Given the description of an element on the screen output the (x, y) to click on. 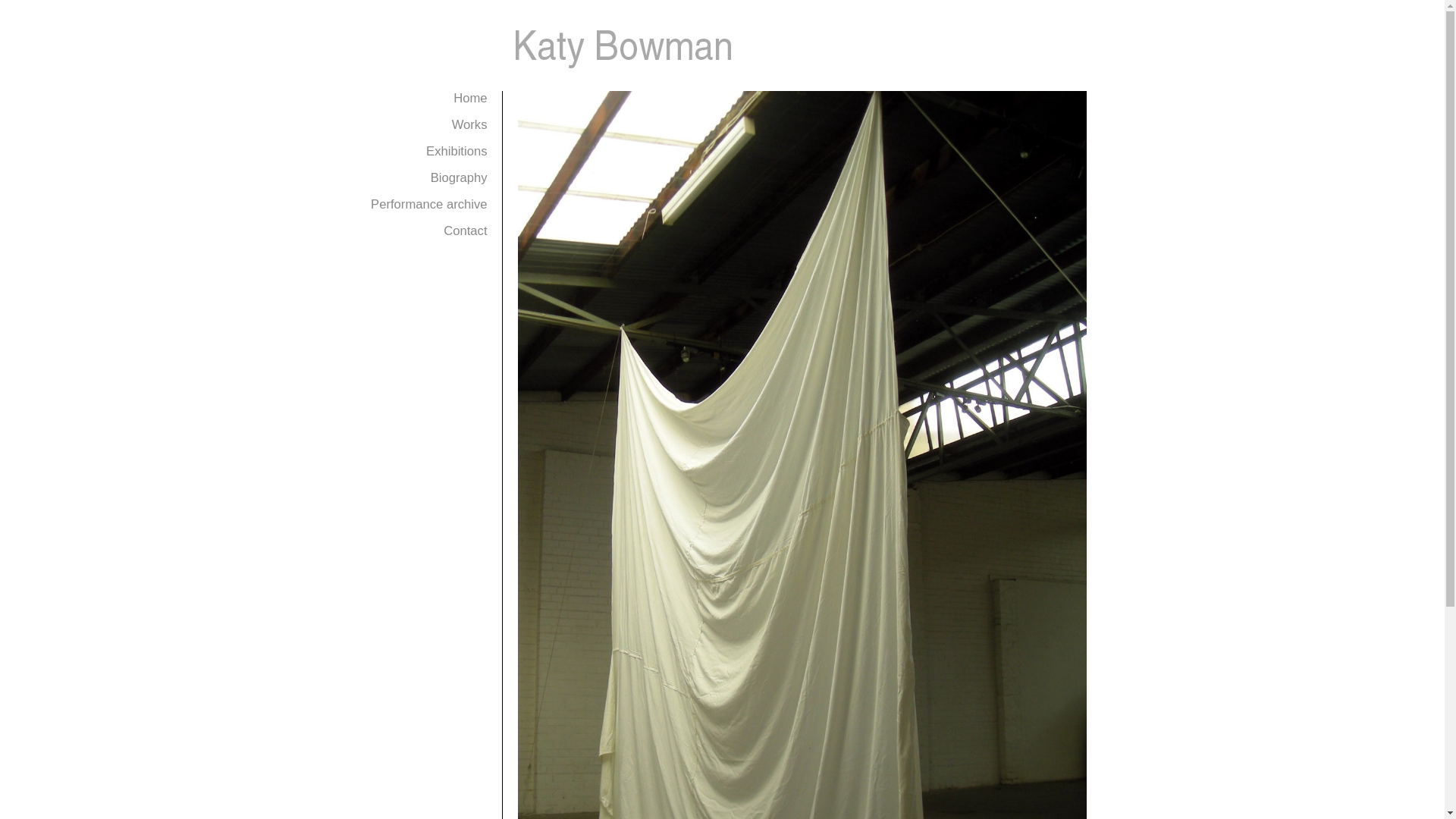
Contact Element type: text (464, 230)
Works Element type: text (469, 124)
Biography Element type: text (458, 177)
Performance archive Element type: text (428, 204)
Home Element type: text (469, 98)
Exhibitions Element type: text (456, 151)
